Given the description of an element on the screen output the (x, y) to click on. 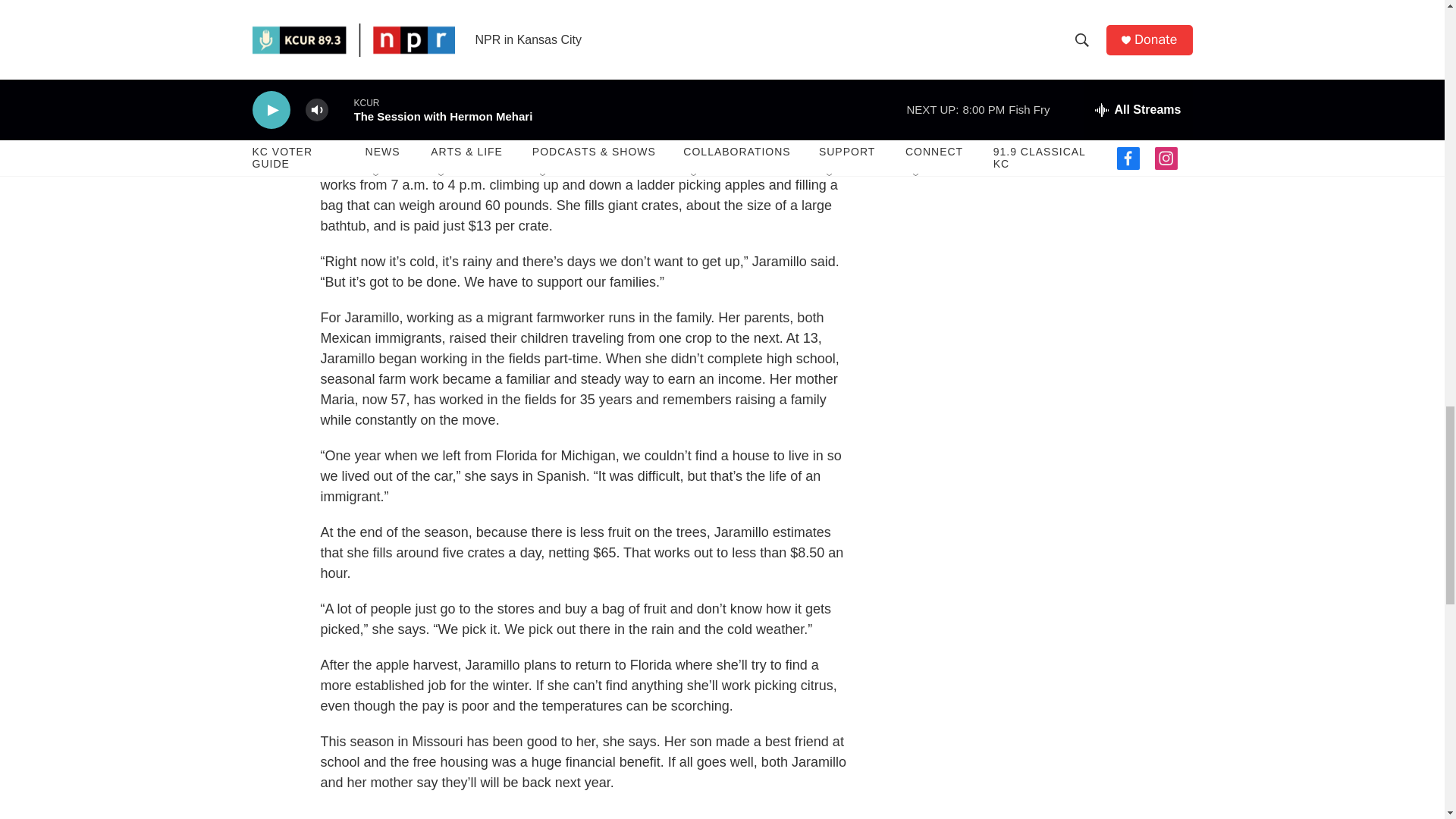
3rd party ad content (1062, 84)
